Given the description of an element on the screen output the (x, y) to click on. 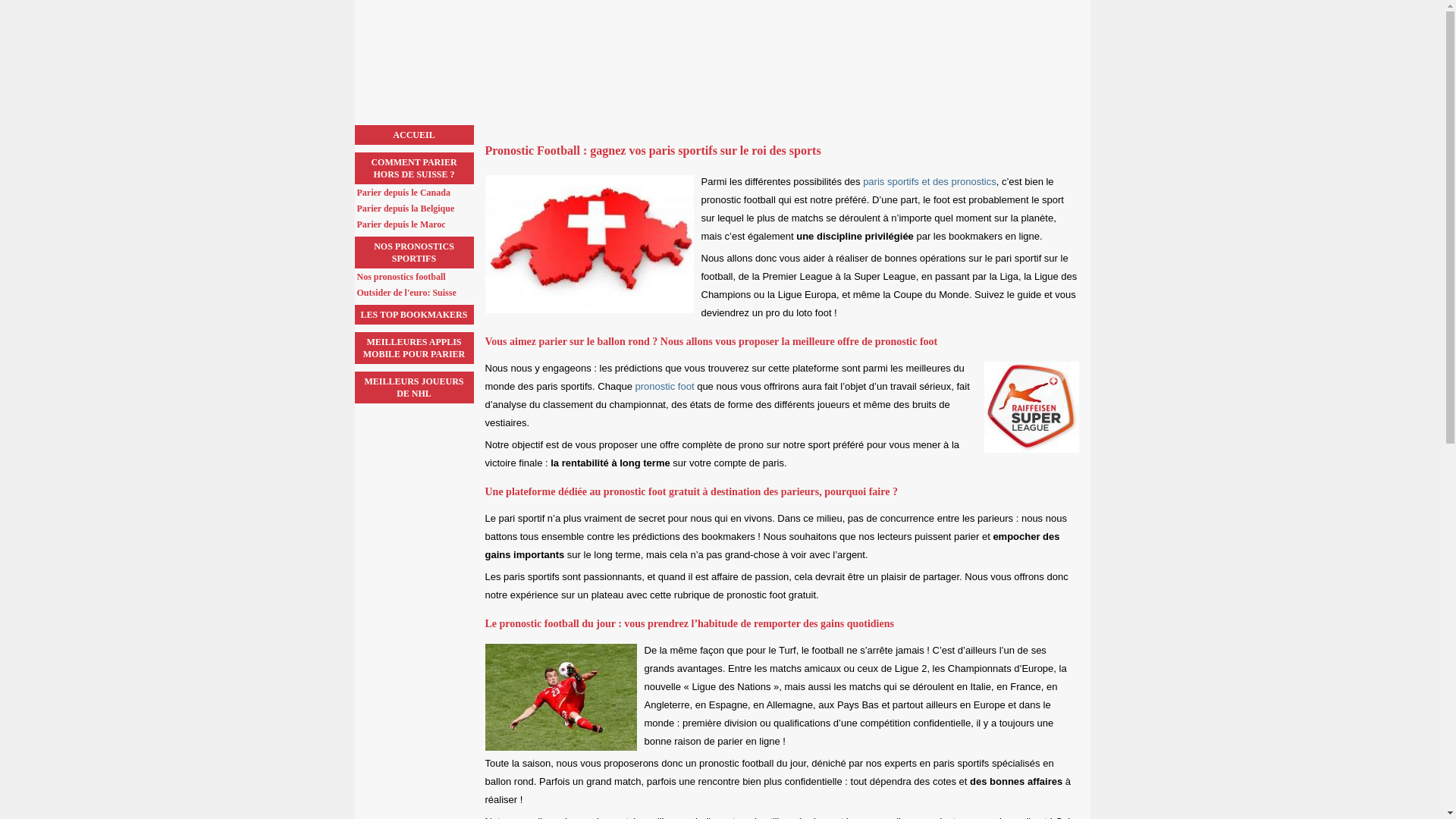
Outsider de l'euro: Suisse Element type: text (414, 292)
COMMENT PARIER HORS DE SUISSE ? Element type: text (413, 168)
Parier depuis le Maroc Element type: text (414, 224)
Parier depuis la Belgique Element type: text (414, 208)
ACCUEIL Element type: text (413, 134)
MEILLEURS JOUEURS DE NHL Element type: text (413, 387)
LES TOP BOOKMAKERS Element type: text (413, 314)
paris sportifs et des pronostics Element type: text (929, 181)
Nos pronostics football Element type: text (414, 276)
NOS PRONOSTICS SPORTIFS Element type: text (413, 252)
pronostic foot Element type: text (664, 386)
Parier depuis le Canada Element type: text (414, 192)
MEILLEURES APPLIS MOBILE POUR PARIER Element type: text (413, 348)
